Given the description of an element on the screen output the (x, y) to click on. 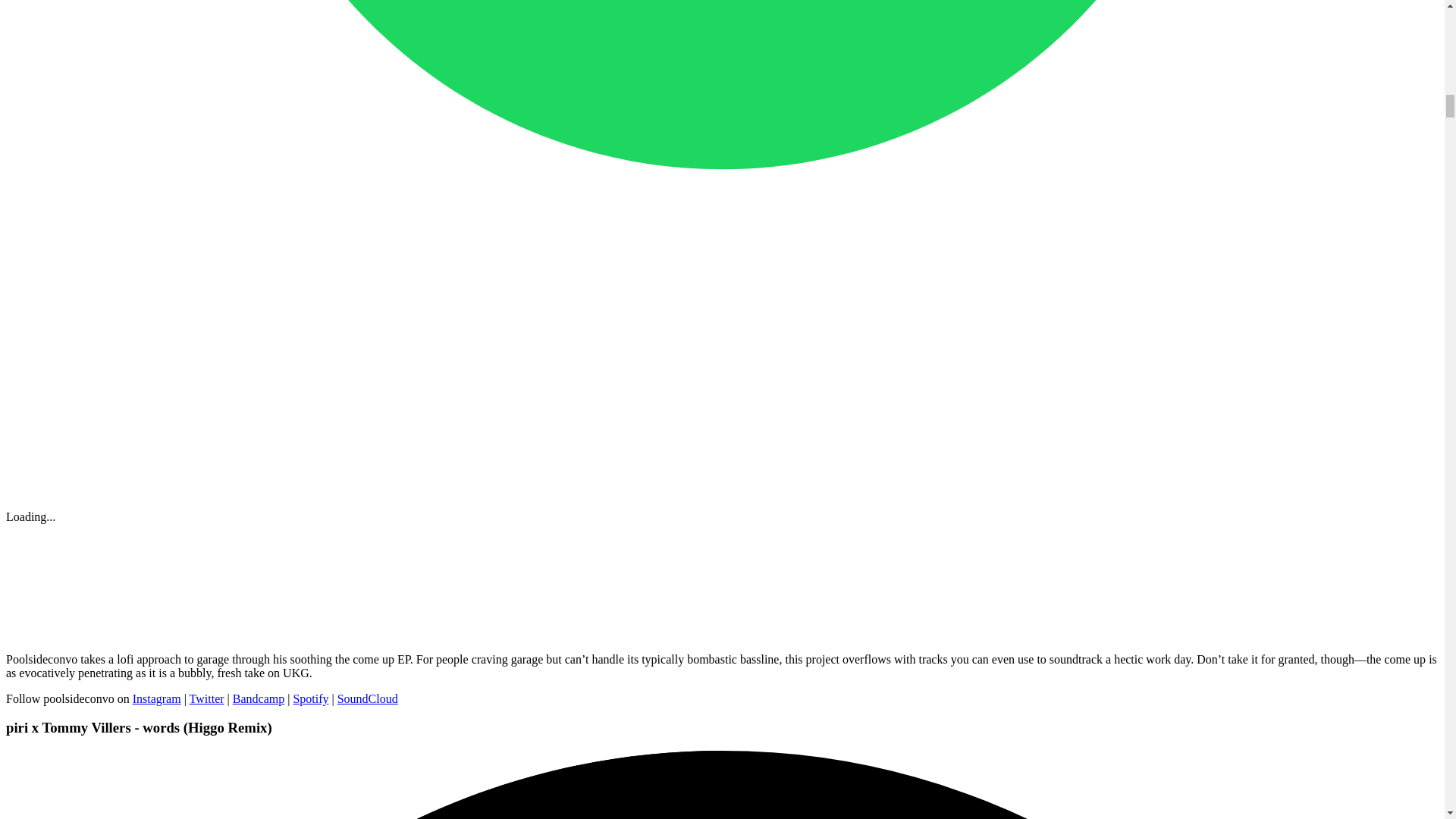
Bandcamp (257, 698)
Instagram (156, 698)
SoundCloud (367, 698)
Spotify (310, 698)
Twitter (206, 698)
